Given the description of an element on the screen output the (x, y) to click on. 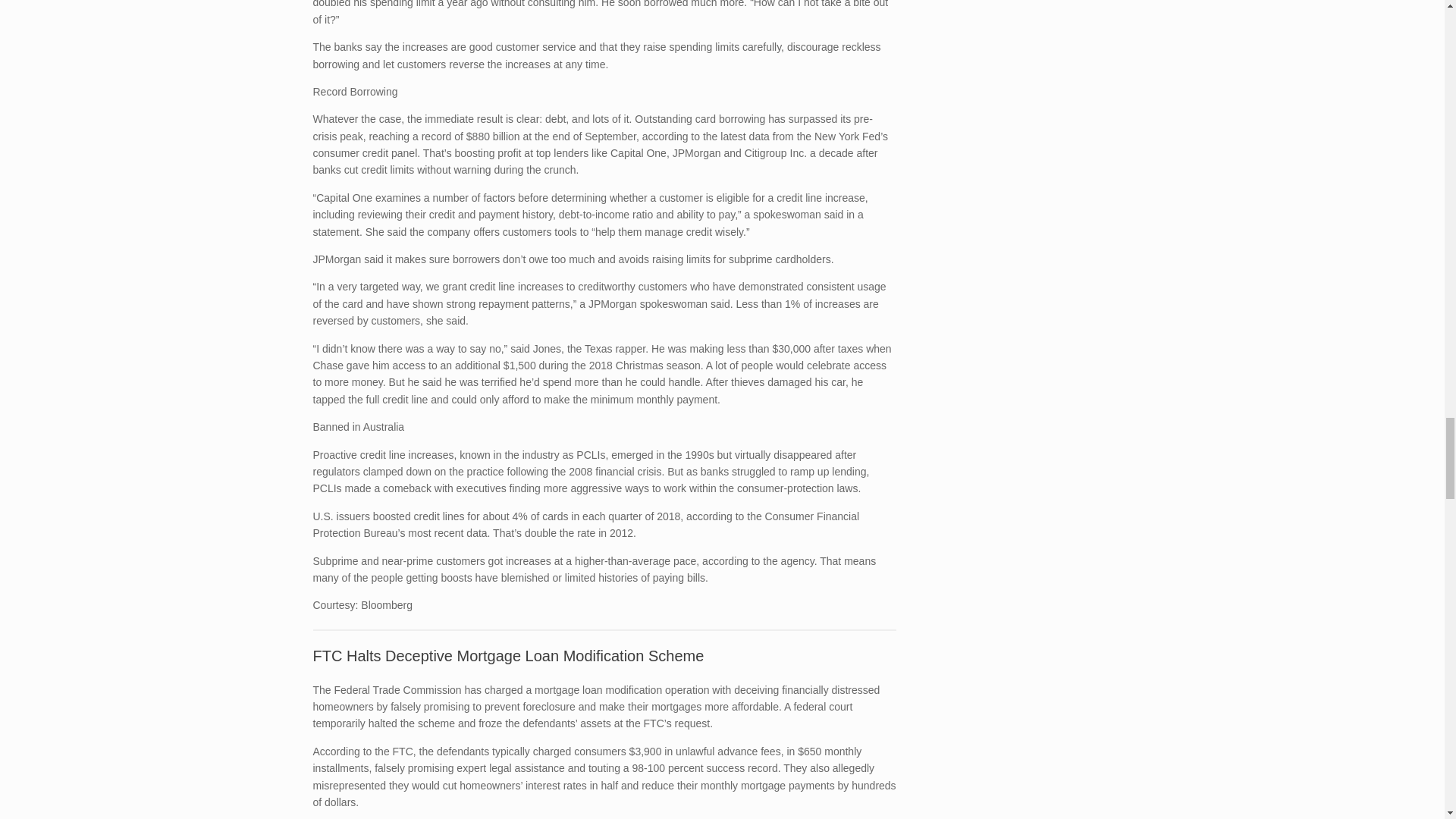
FTC Halts Deceptive Mortgage Loan Modification Scheme (508, 655)
